Given the description of an element on the screen output the (x, y) to click on. 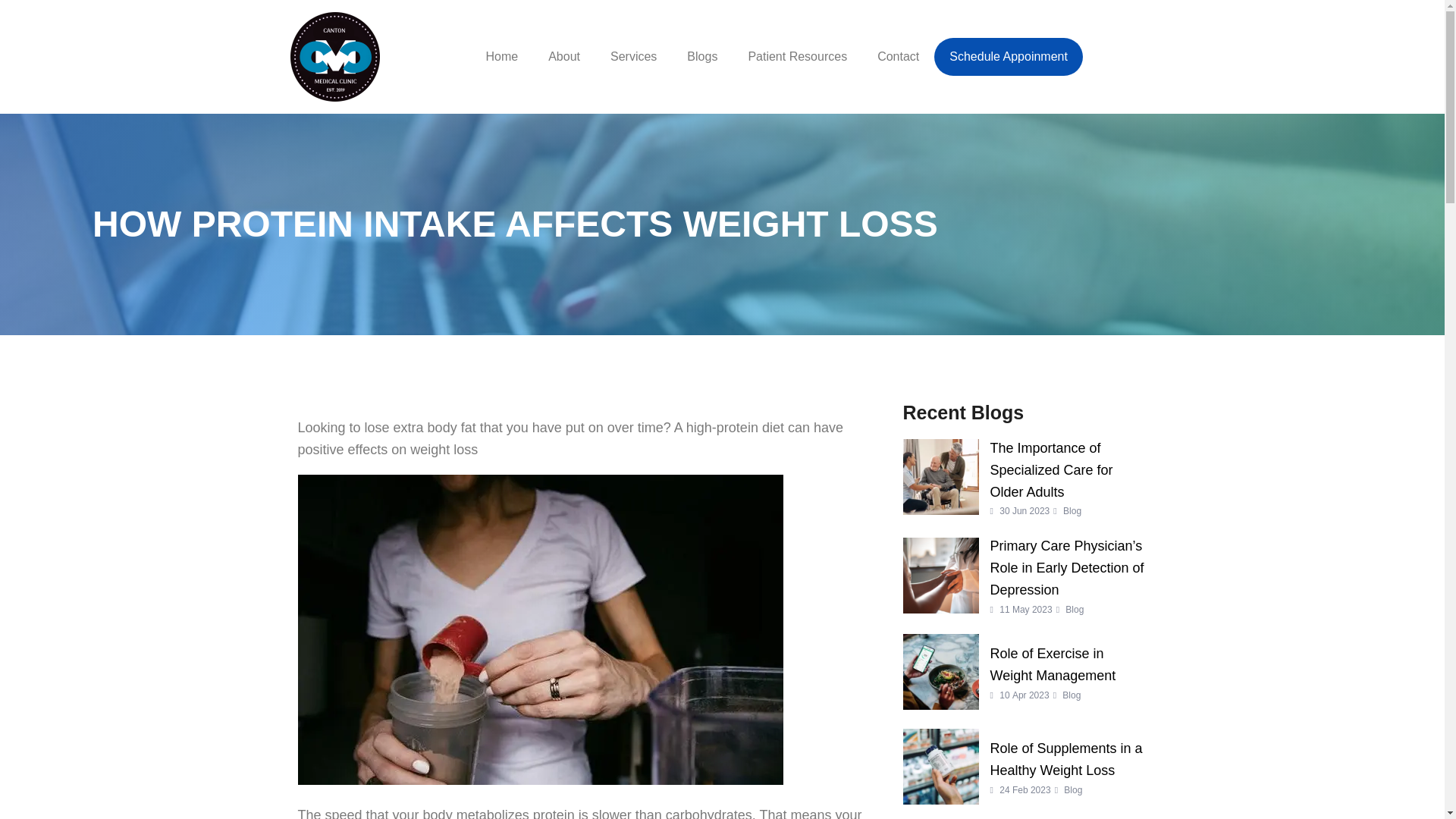
About (1024, 671)
Contact (563, 56)
Blogs (897, 56)
Schedule Appoinment (701, 56)
Home (1008, 56)
Services (501, 56)
Patient Resources (633, 56)
